Given the description of an element on the screen output the (x, y) to click on. 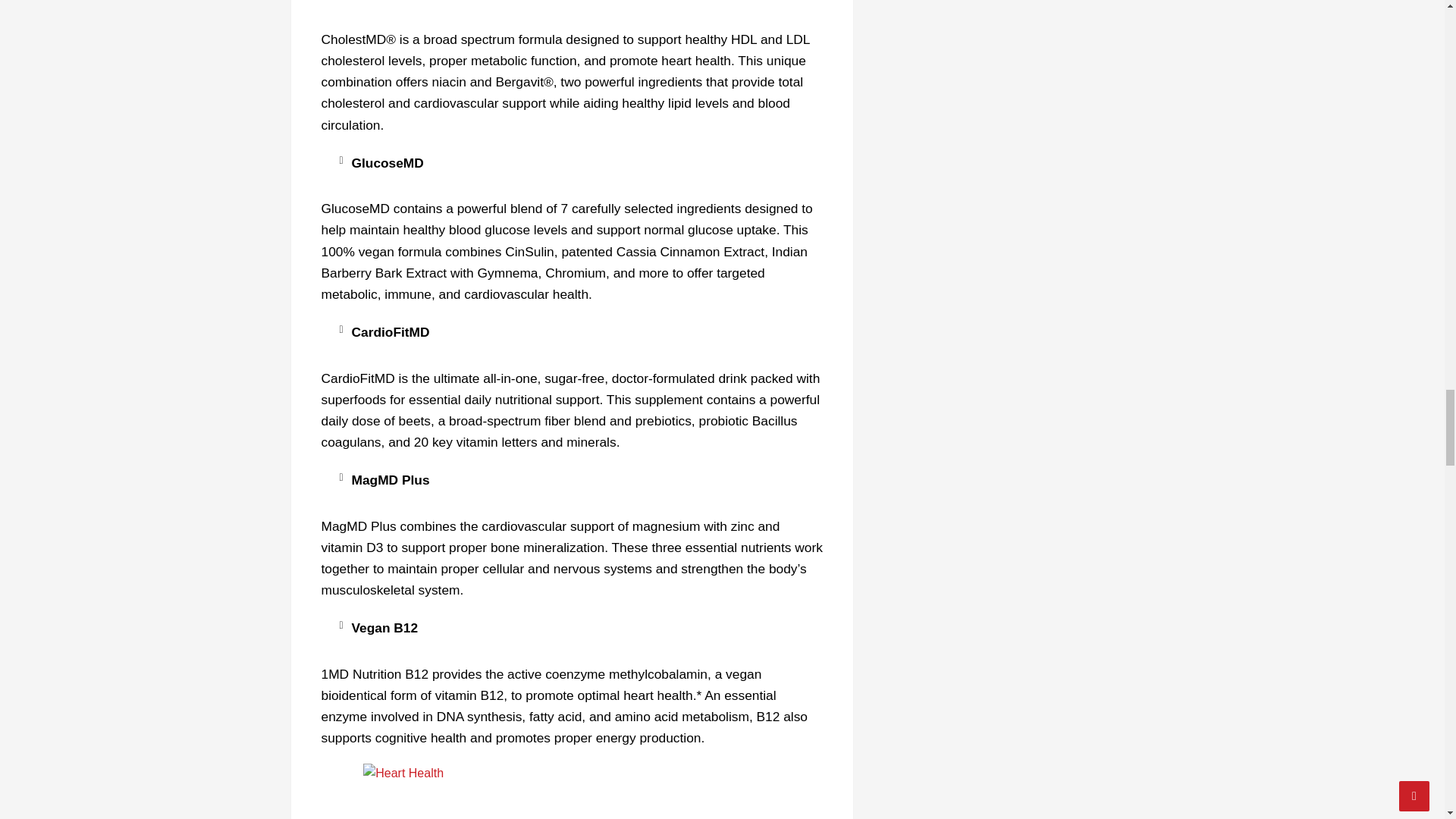
1MD Nutrition (571, 791)
promote heart health (667, 60)
methylcobalamin (657, 673)
support normal glucose (662, 229)
Chromium (574, 272)
